Given the description of an element on the screen output the (x, y) to click on. 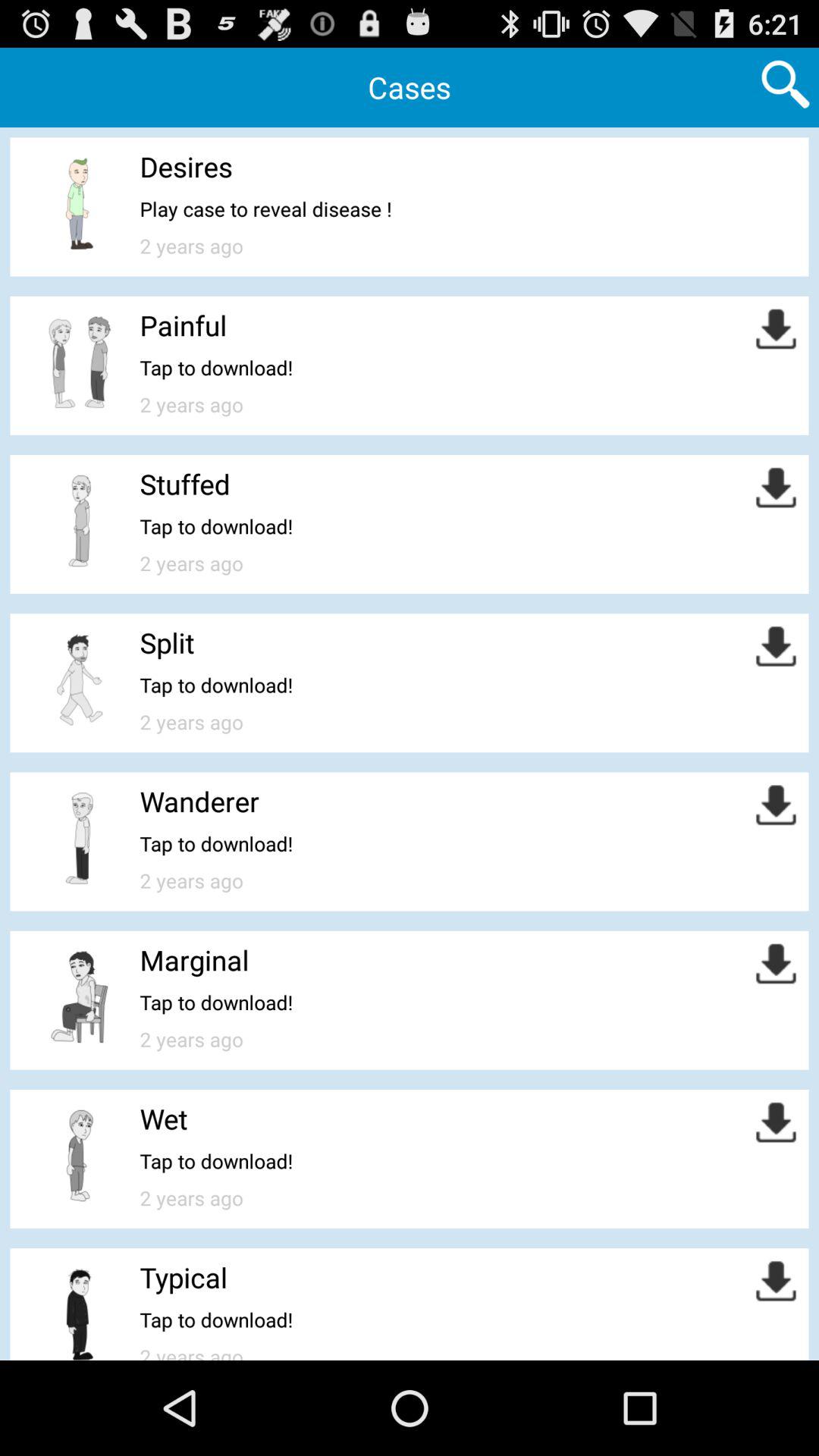
tap item above tap to download! icon (184, 483)
